Given the description of an element on the screen output the (x, y) to click on. 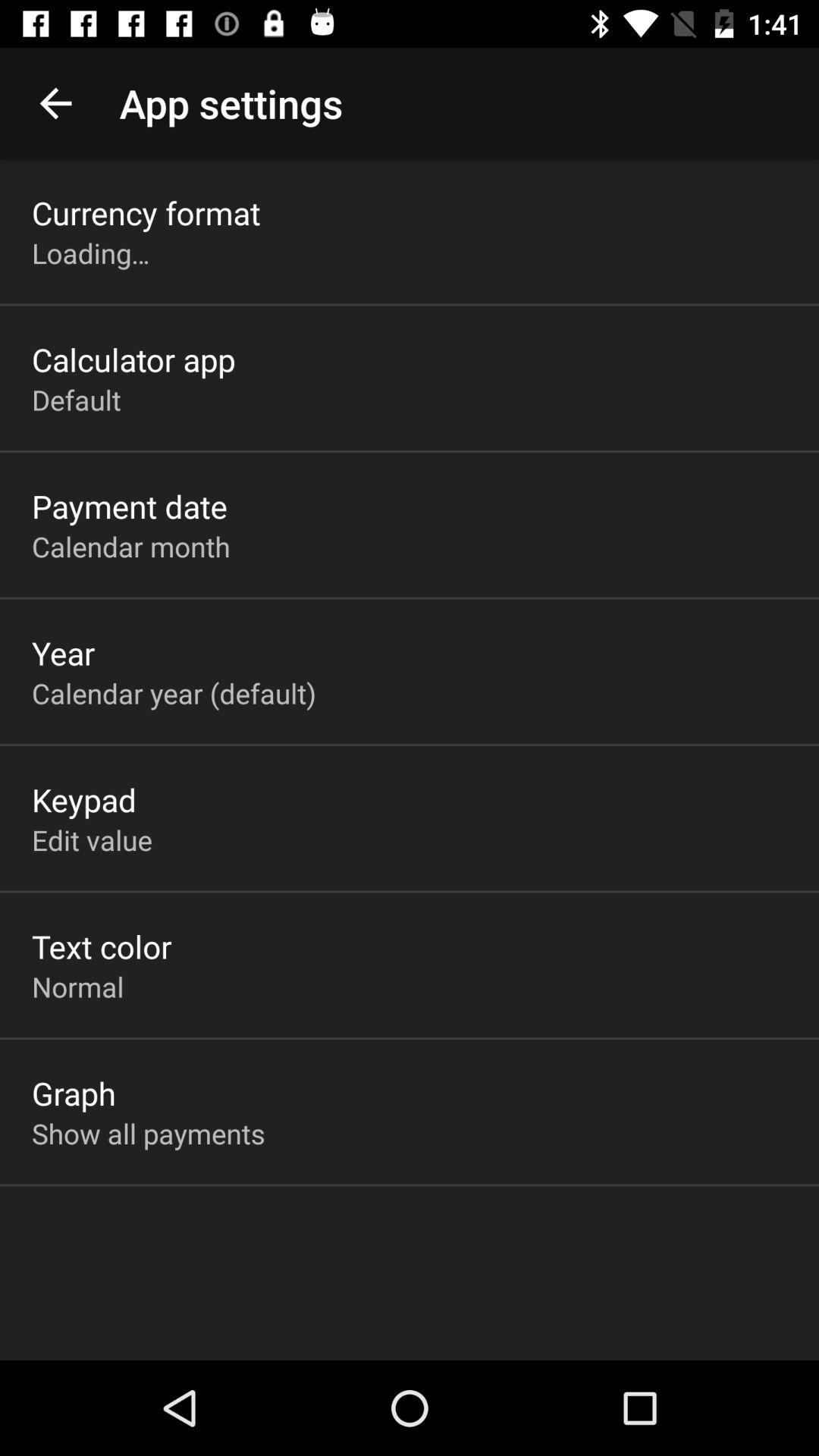
open the calculator app icon (133, 359)
